Given the description of an element on the screen output the (x, y) to click on. 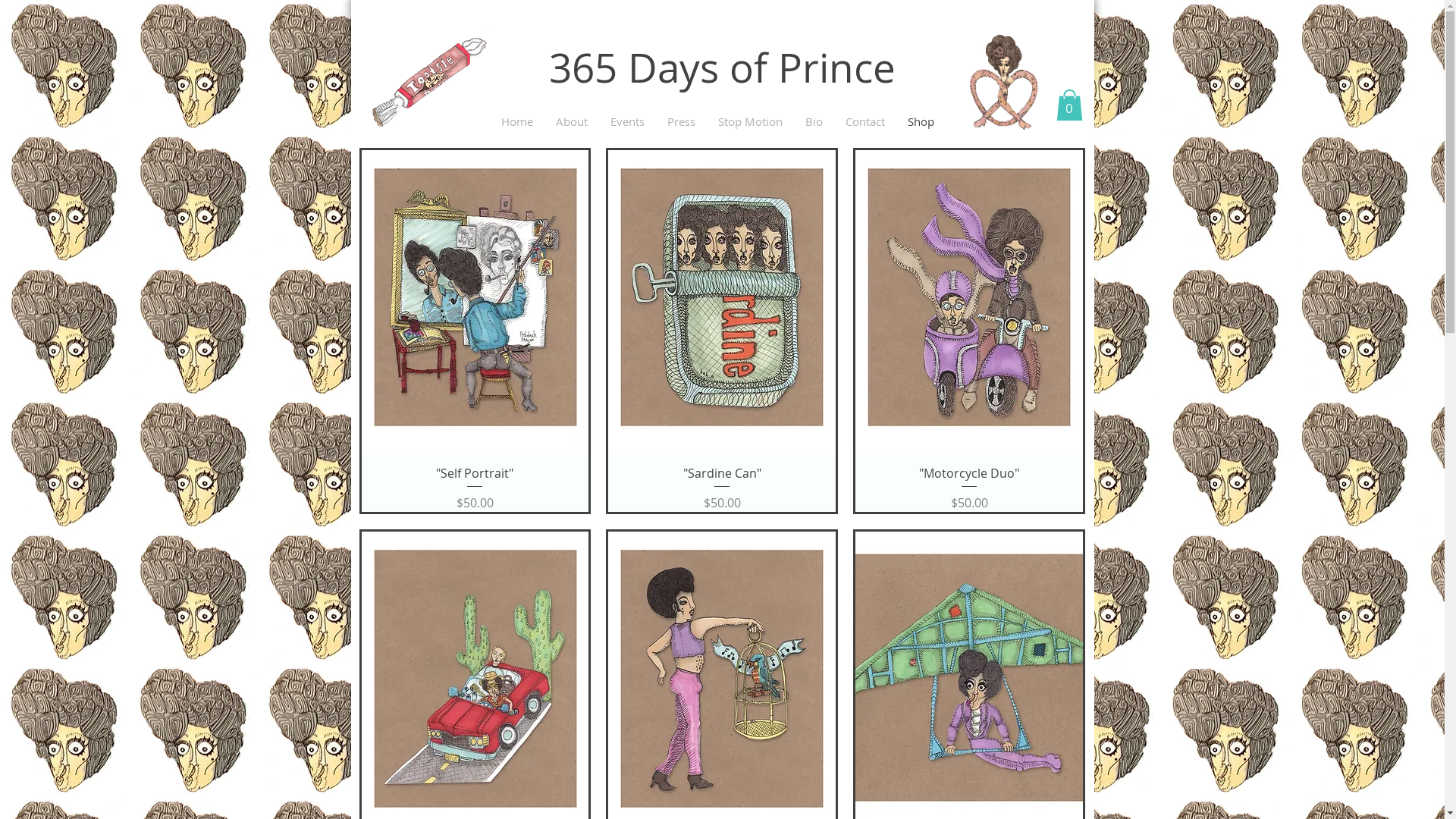
Contact Element type: text (865, 121)
Bio Element type: text (813, 121)
"Self Portrait"
Price
$50.00 Element type: text (474, 488)
Events Element type: text (627, 121)
0 Element type: text (1068, 105)
Home Element type: text (516, 121)
"Motorcycle Duo"
Price
$50.00 Element type: text (968, 488)
Press Element type: text (680, 121)
About Element type: text (571, 121)
"Sardine Can"
Price
$50.00 Element type: text (721, 488)
Shop Element type: text (920, 121)
Stop Motion Element type: text (749, 121)
